Given the description of an element on the screen output the (x, y) to click on. 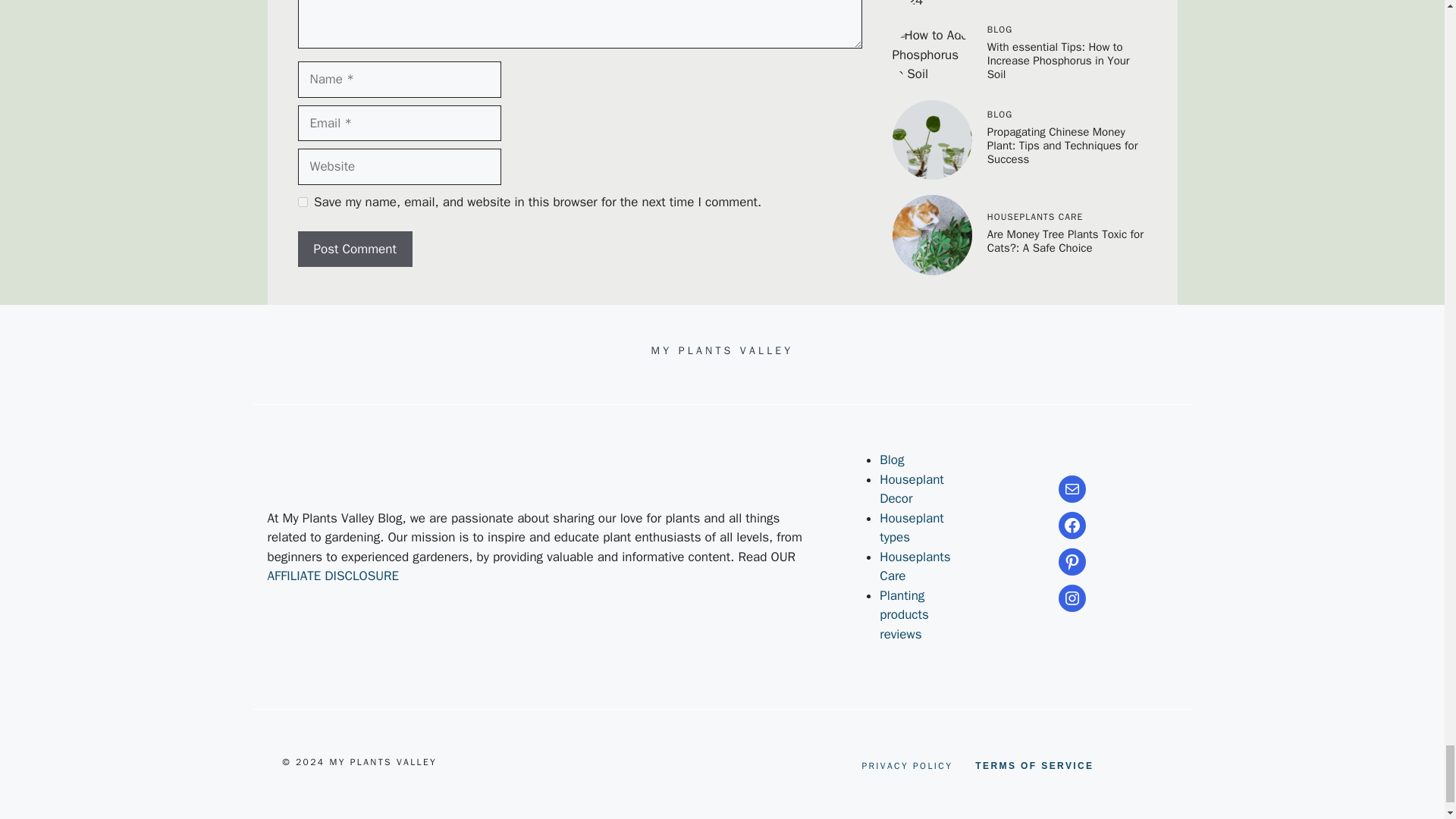
yes (302, 202)
Post Comment (354, 248)
